Given the description of an element on the screen output the (x, y) to click on. 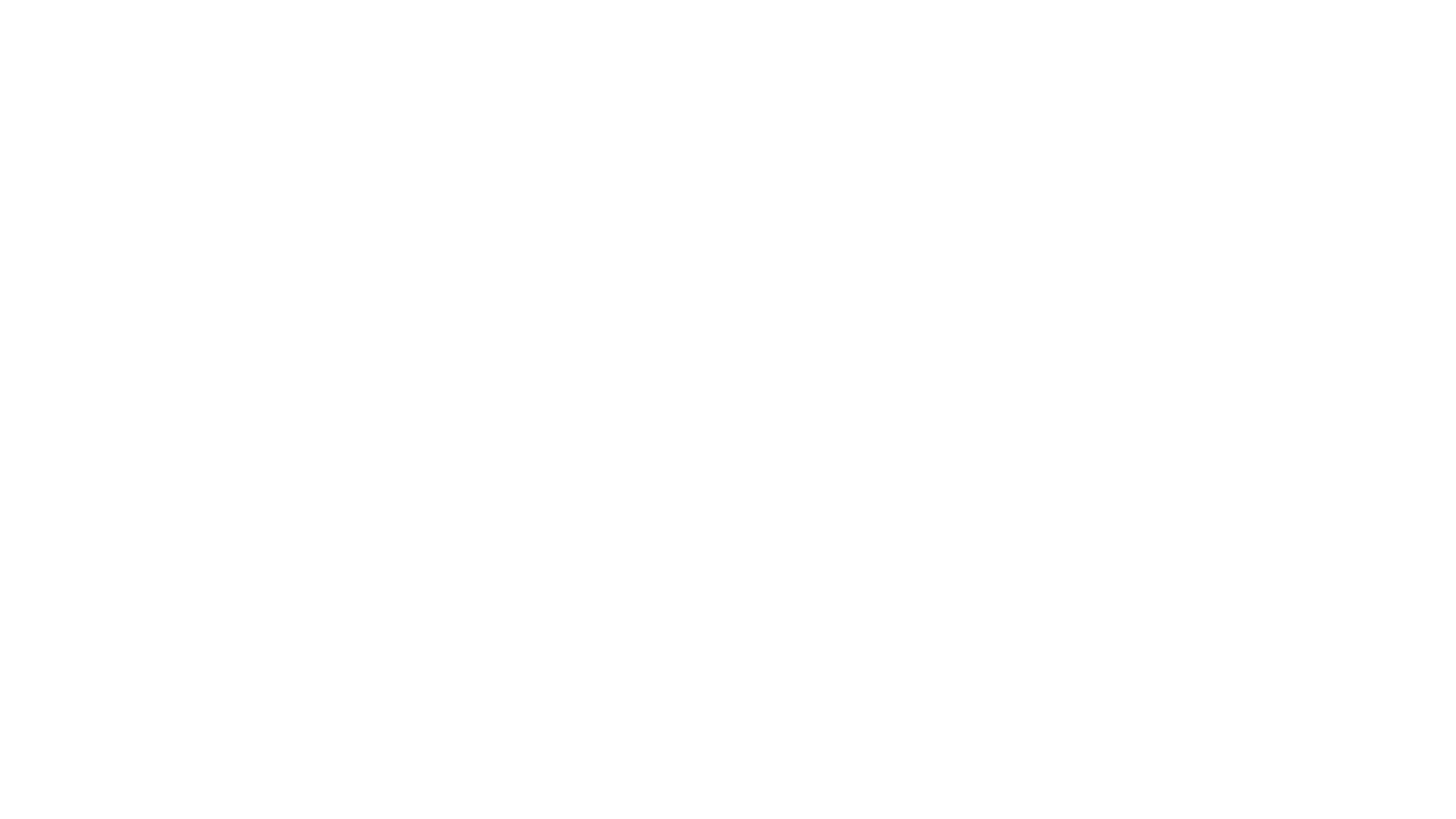
SUCURSALES Element type: text (895, 15)
CONTACTO Element type: text (1065, 15)
FLOTA Element type: text (636, 15)
SERVICIOS Element type: text (575, 15)
INICIO Element type: text (378, 15)
CLIENTES Element type: text (504, 15)
SUMATE A 30/11 Element type: text (983, 14)
EMPRESA Element type: text (436, 15)
